Given the description of an element on the screen output the (x, y) to click on. 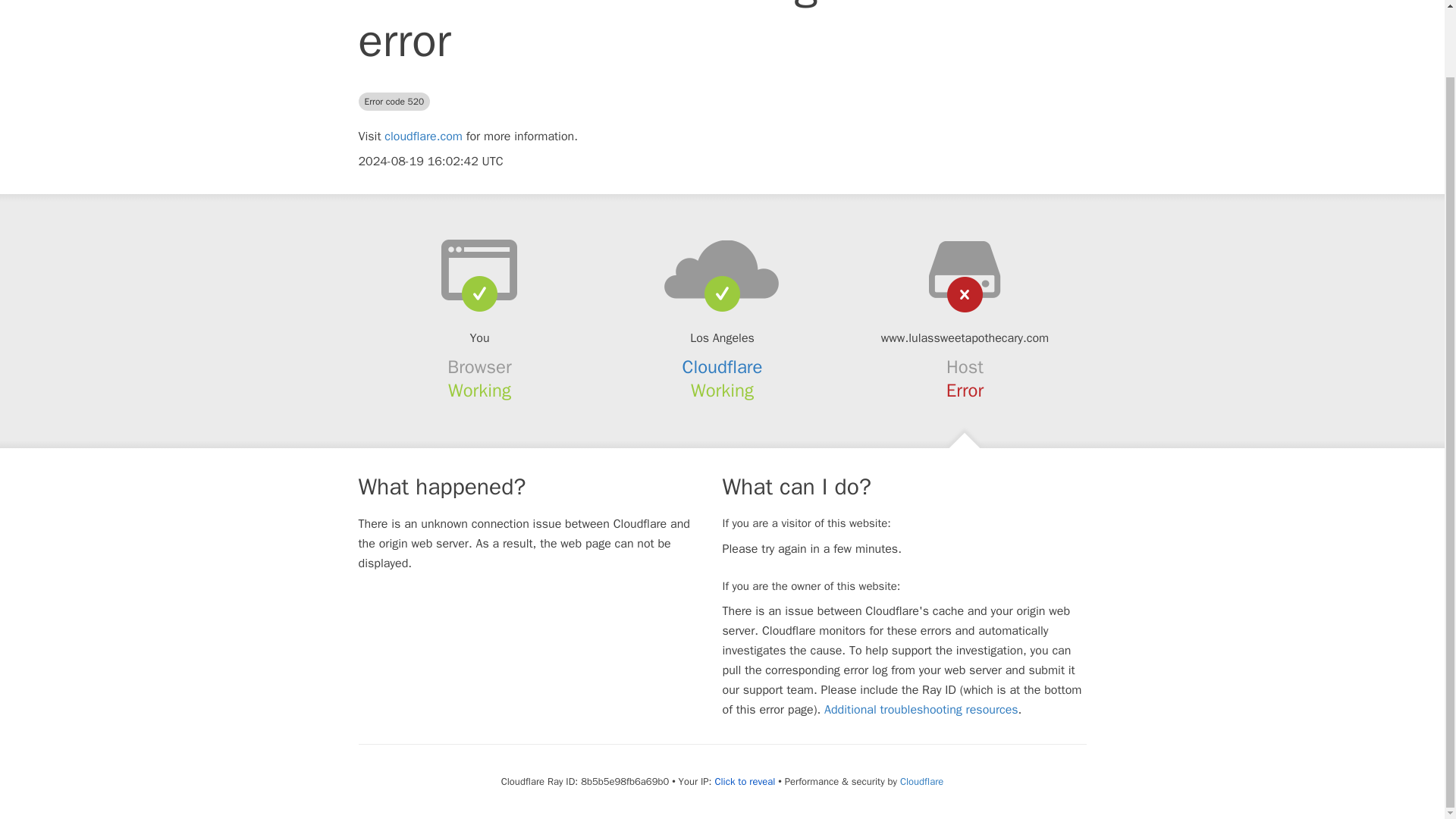
Additional troubleshooting resources (920, 709)
Cloudflare (921, 780)
Cloudflare (722, 366)
Click to reveal (744, 781)
cloudflare.com (423, 136)
